Given the description of an element on the screen output the (x, y) to click on. 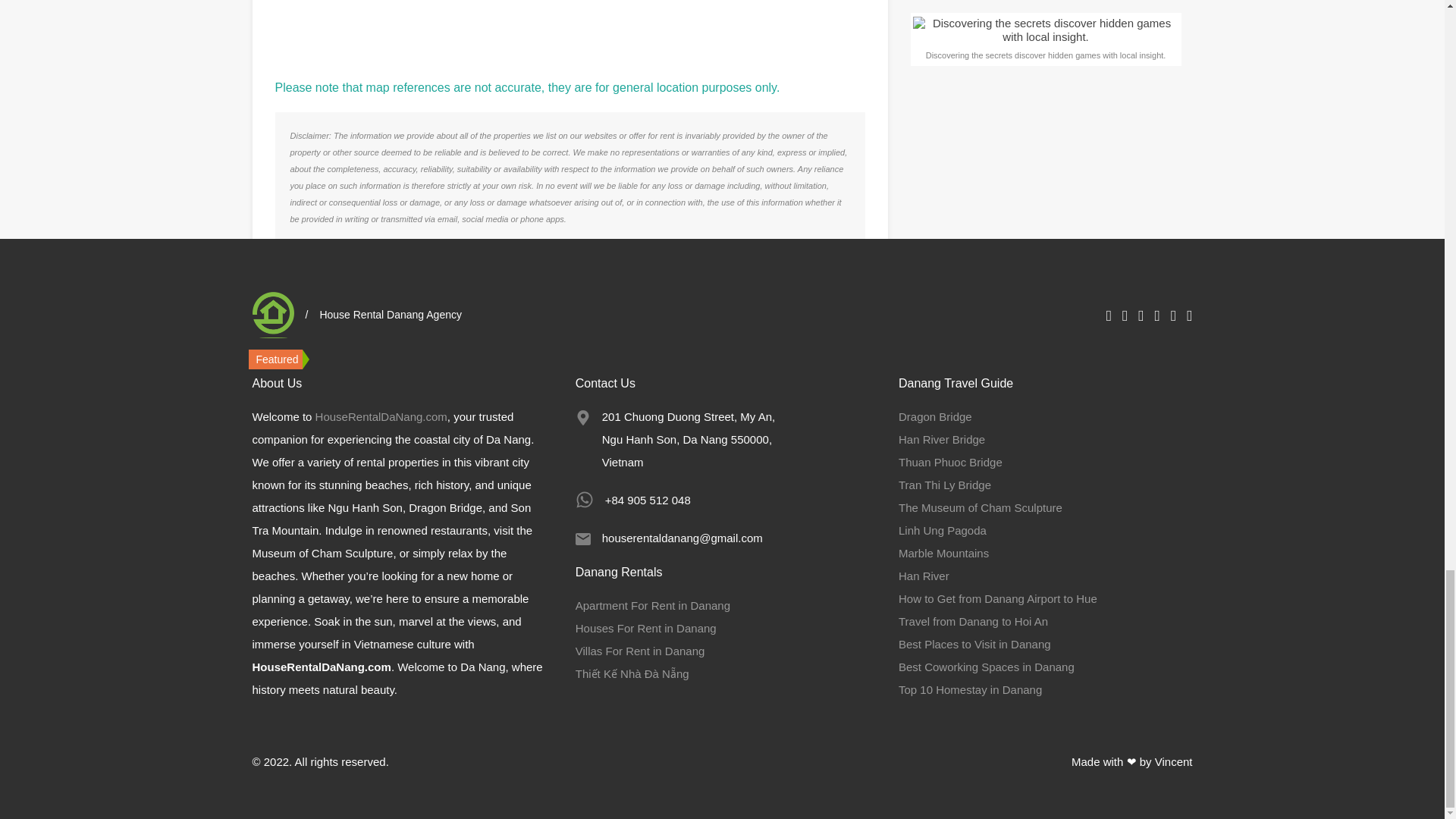
Green Apartment For Rent in Danang (403, 450)
Beautiful Garden House For Rent In My An (735, 450)
House Rental Danang Agency (272, 314)
